Given the description of an element on the screen output the (x, y) to click on. 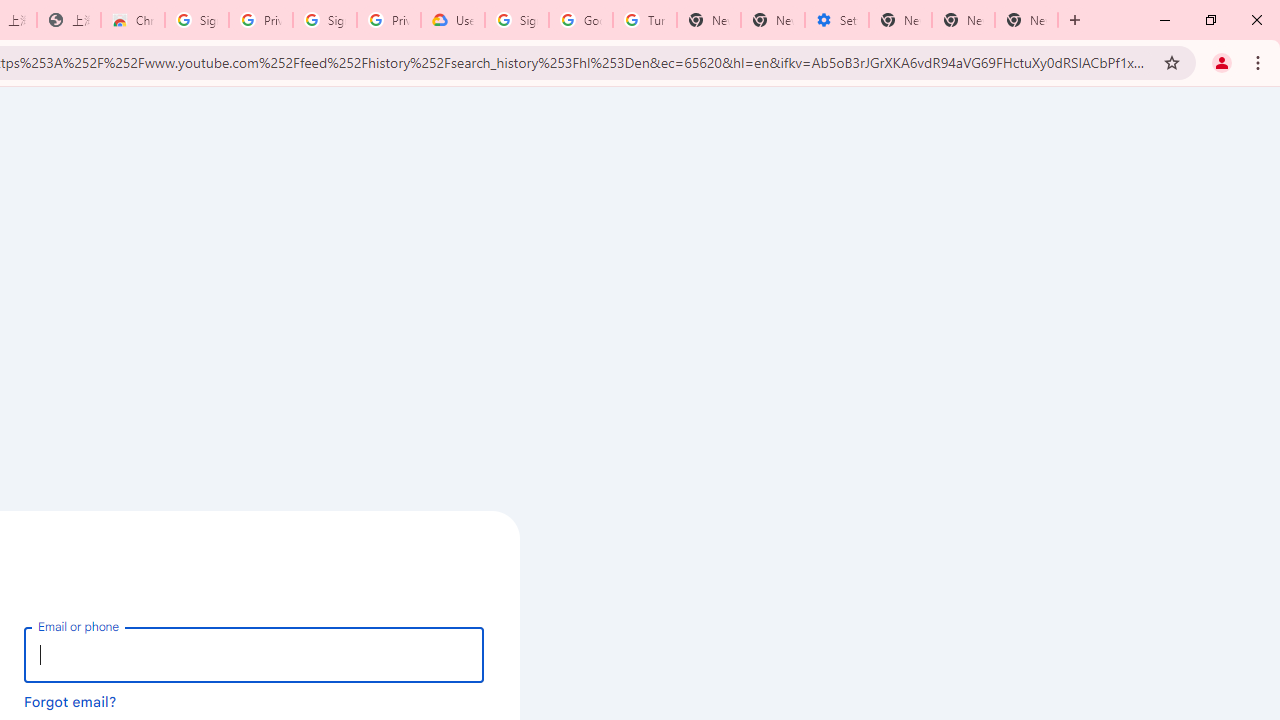
Sign in - Google Accounts (517, 20)
Forgot email? (70, 701)
Sign in - Google Accounts (325, 20)
Chrome Web Store - Color themes by Chrome (133, 20)
Settings - System (837, 20)
New Tab (709, 20)
Email or phone (253, 654)
New Tab (1026, 20)
Google Account Help (581, 20)
